Given the description of an element on the screen output the (x, y) to click on. 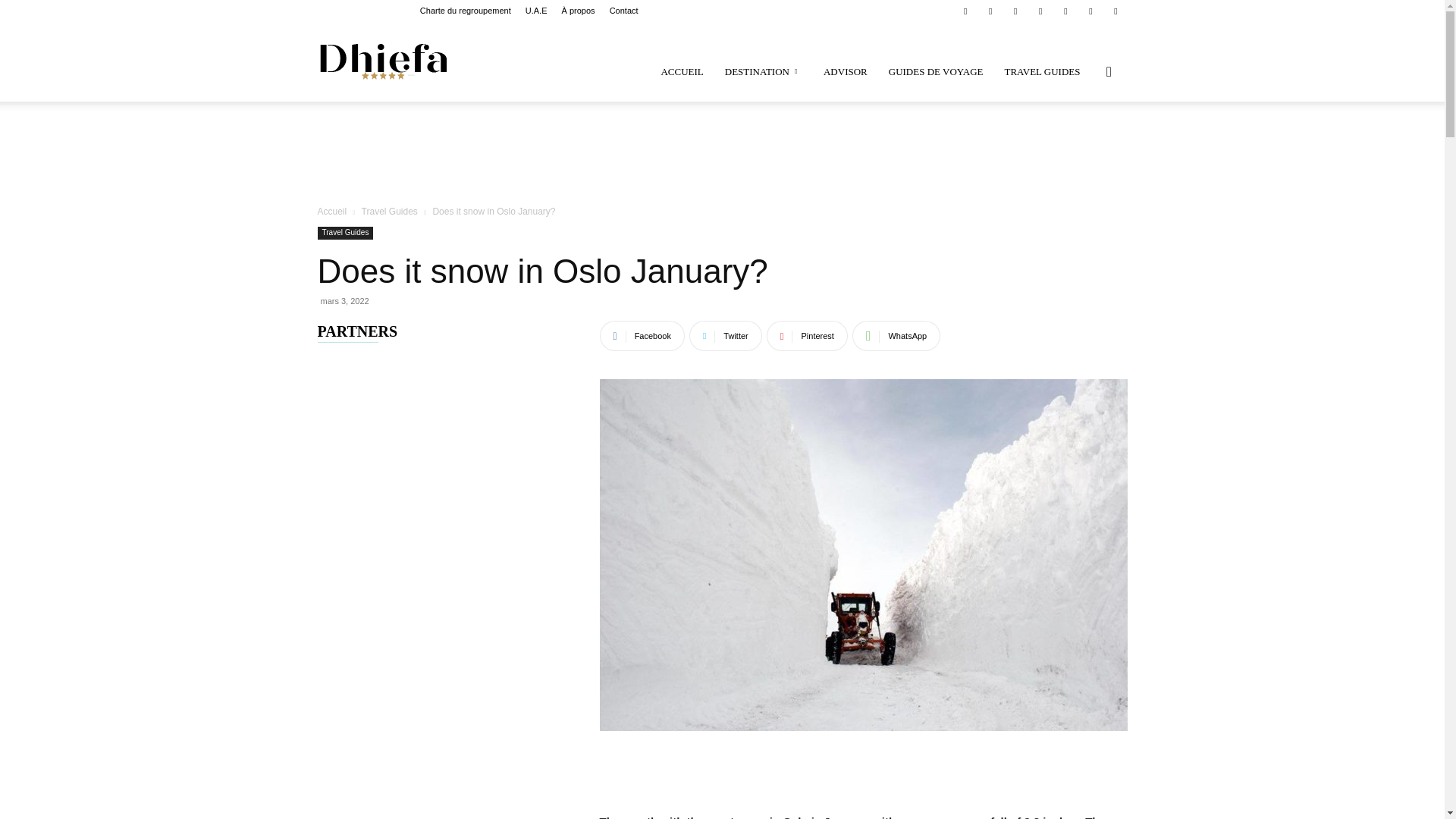
Charte du regroupement (465, 10)
Facebook (964, 10)
Youtube (1114, 10)
Tumblr (1065, 10)
U.A.E (536, 10)
Twitter (1090, 10)
Mail (1015, 10)
Pinterest (1040, 10)
Contact (624, 10)
Linkedin (989, 10)
